Given the description of an element on the screen output the (x, y) to click on. 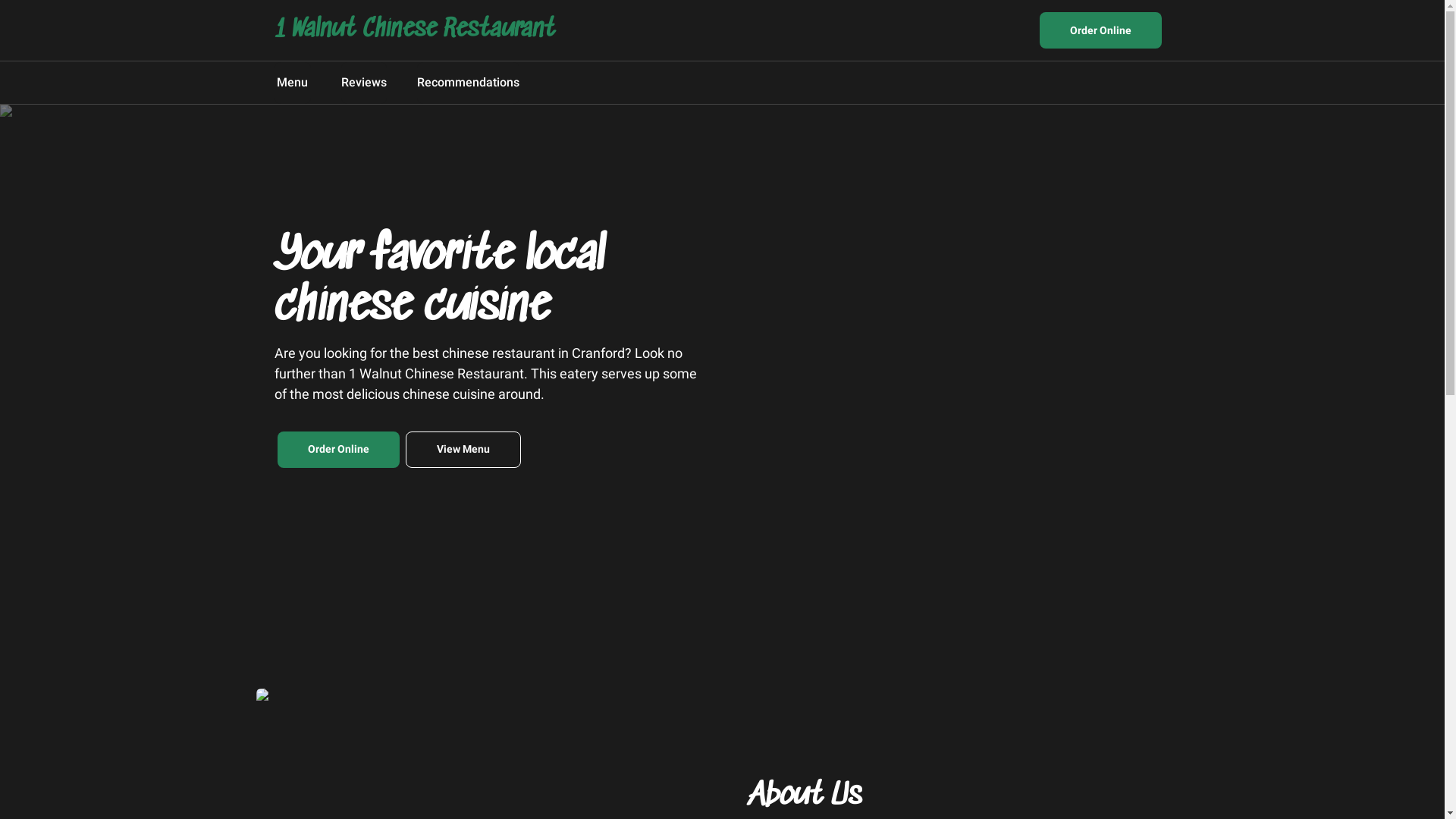
1 Walnut Chinese Restaurant Element type: text (414, 29)
Menu Element type: text (292, 82)
Reviews Element type: text (363, 82)
Reviews Element type: text (363, 82)
View Menu Element type: text (462, 448)
Order Online Element type: text (1099, 30)
Recommendations Element type: text (468, 82)
Order Online Element type: text (338, 448)
Recommendations Element type: text (468, 82)
Menu Element type: text (292, 82)
